Given the description of an element on the screen output the (x, y) to click on. 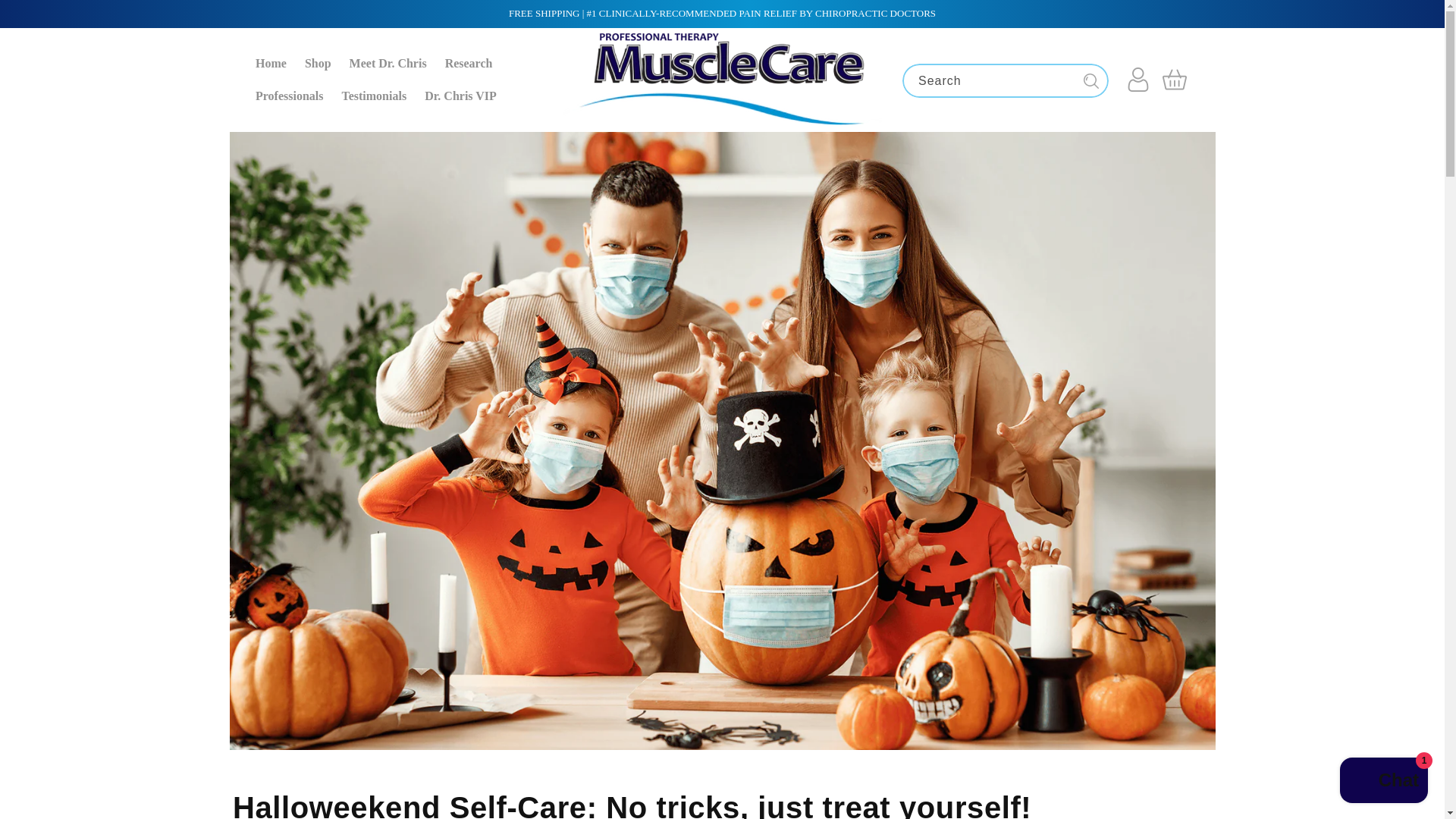
Testimonials (372, 95)
Home (270, 62)
Dr. Chris VIP (459, 95)
Meet Dr. Chris (387, 62)
Professionals (288, 95)
SKIP TO CONTENT (45, 17)
Shop (317, 62)
Shopify online store chat (1383, 781)
Research (468, 62)
